Given the description of an element on the screen output the (x, y) to click on. 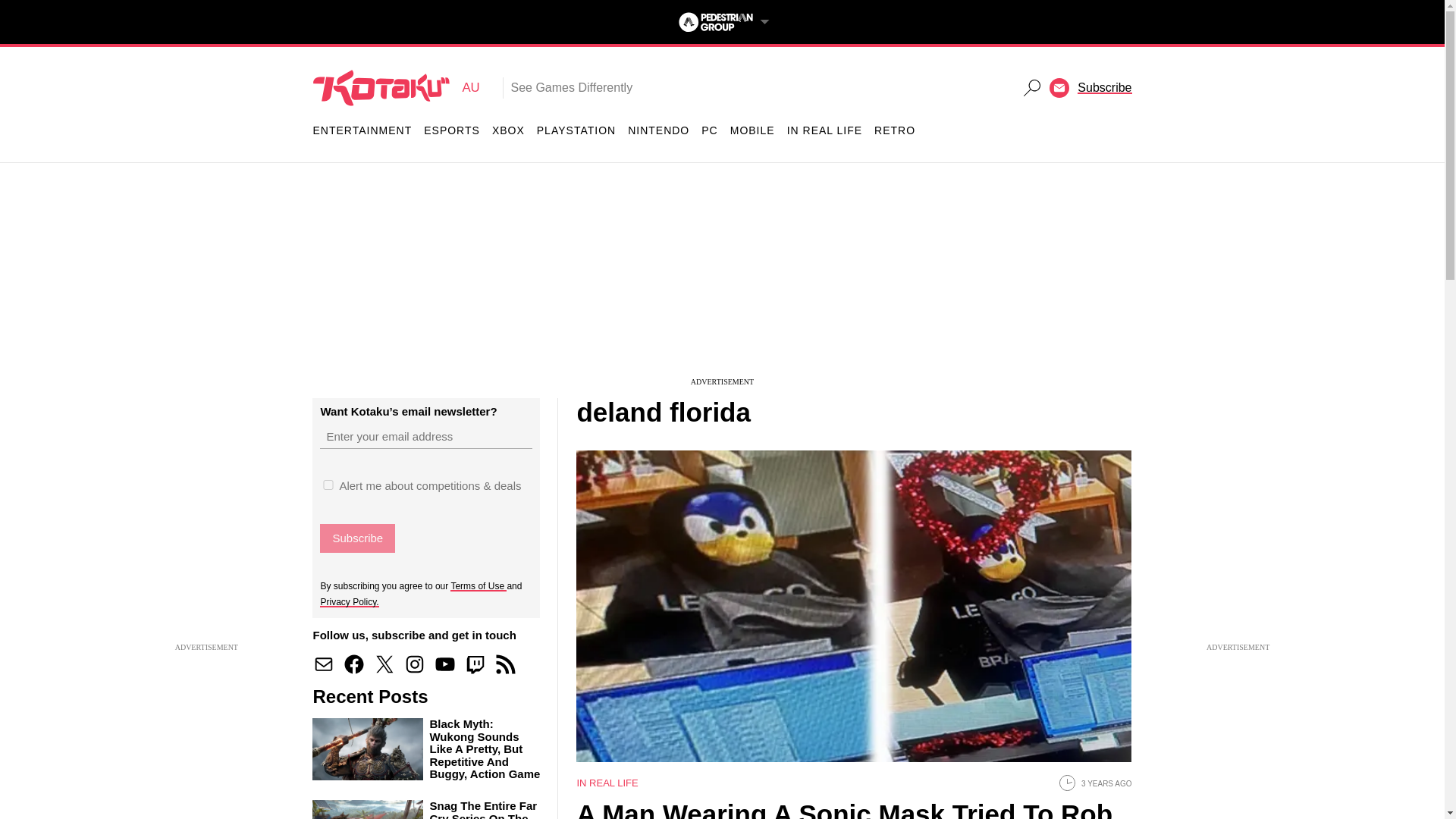
NINTENDO (657, 130)
Privacy Policy. (349, 601)
contact (323, 663)
PLAYSTATION (396, 87)
Subscribe (576, 130)
ESPORTS (357, 538)
twitch (451, 130)
facebook (475, 663)
ENTERTAINMENT (353, 663)
